Given the description of an element on the screen output the (x, y) to click on. 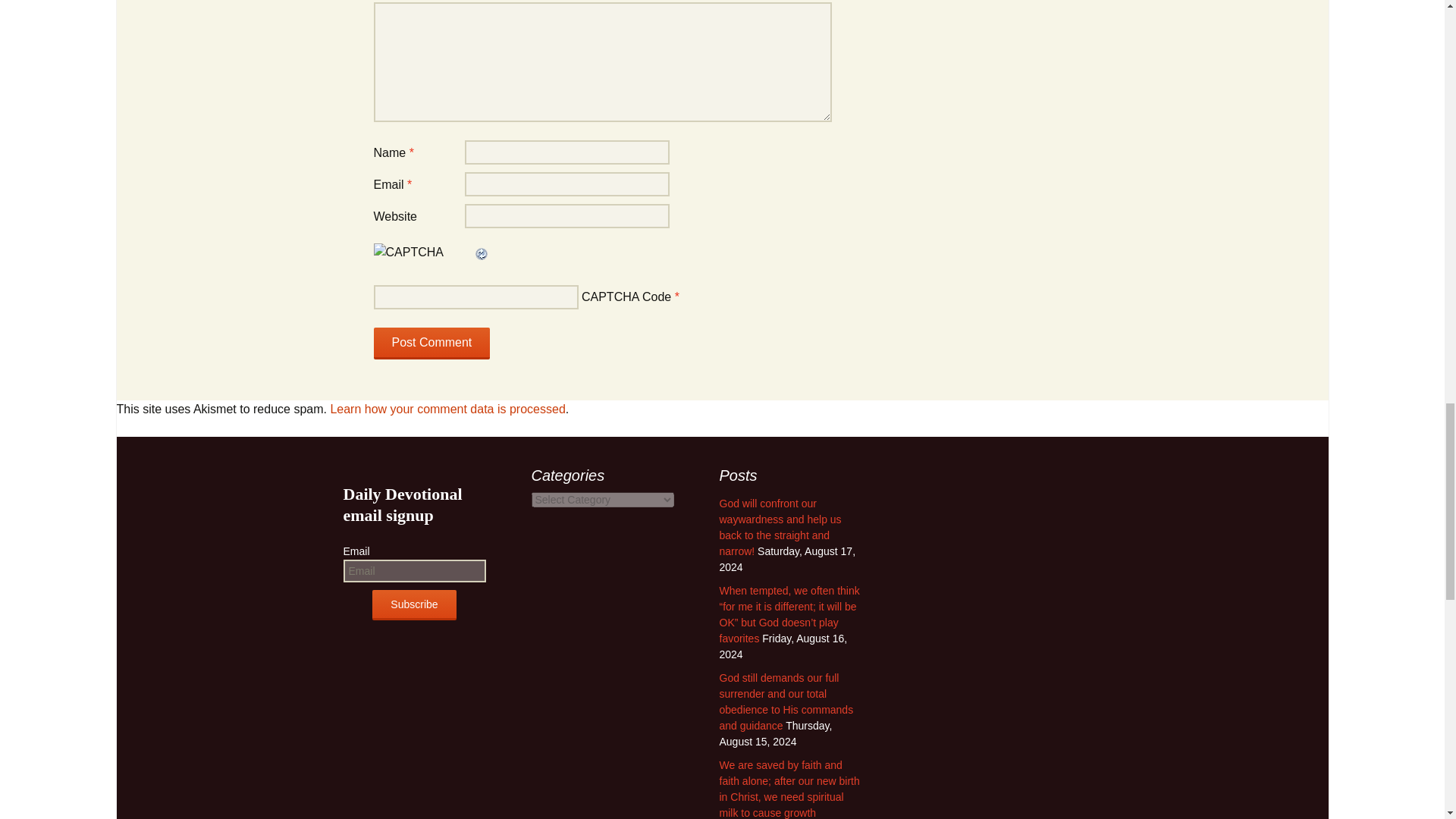
Post Comment (430, 343)
Subscribe (413, 604)
Post Comment (430, 343)
Learn how your comment data is processed (447, 408)
Refresh (481, 251)
CAPTCHA (422, 260)
